Given the description of an element on the screen output the (x, y) to click on. 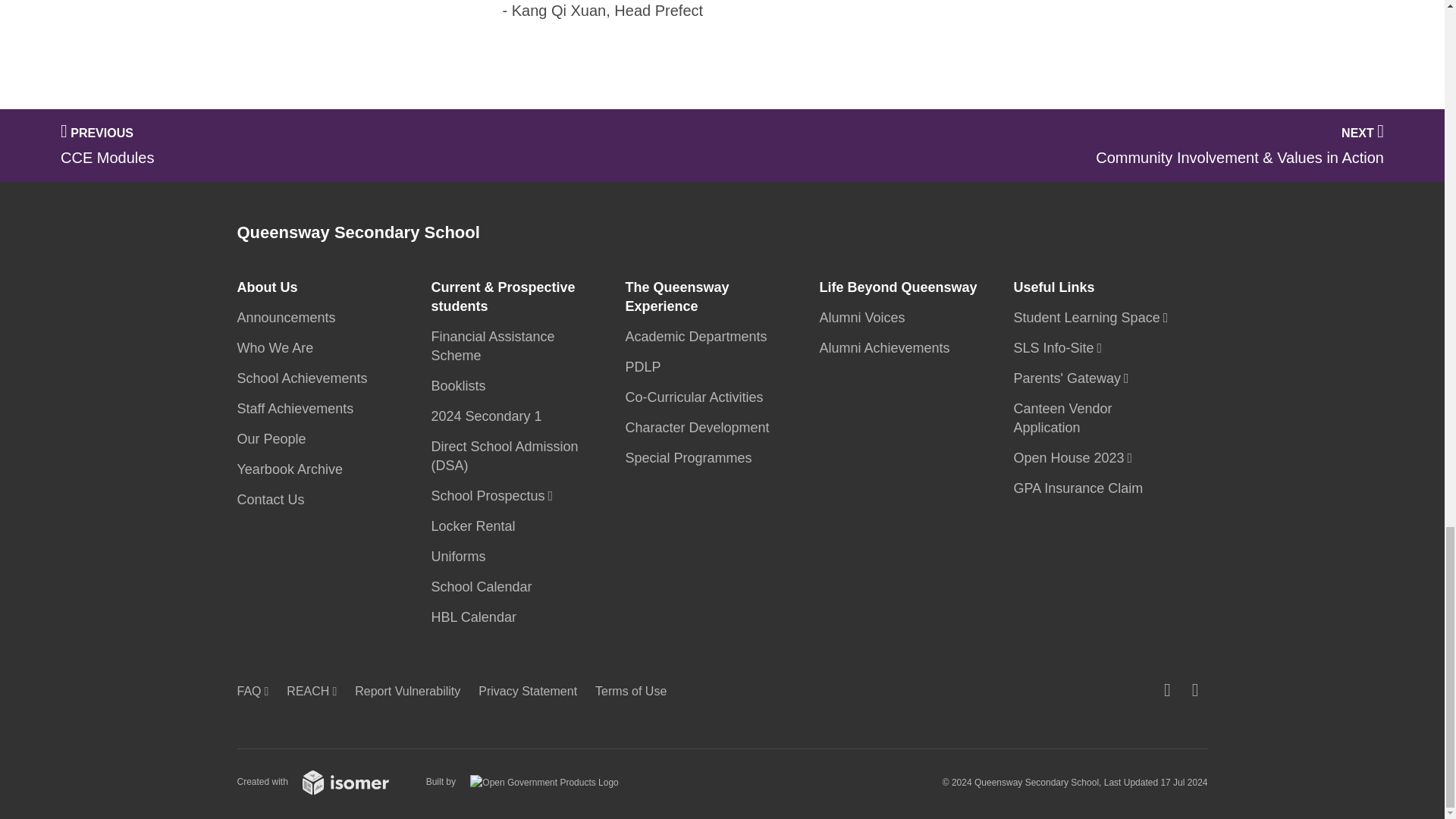
Link to reach.gov.sg (316, 690)
